Given the description of an element on the screen output the (x, y) to click on. 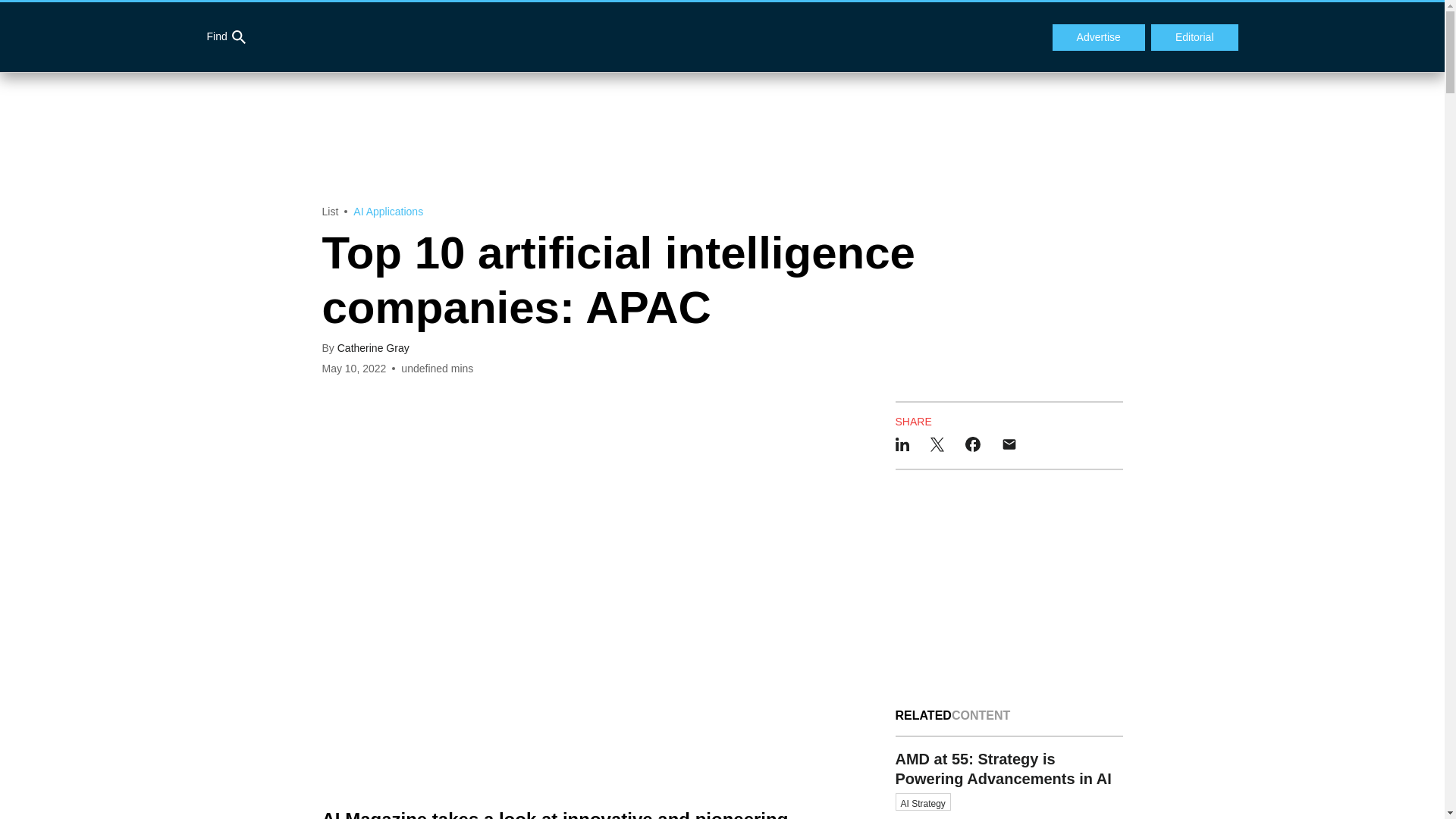
Find (225, 37)
Editorial (1195, 37)
Catherine Gray (373, 347)
Advertise (1098, 37)
